Given the description of an element on the screen output the (x, y) to click on. 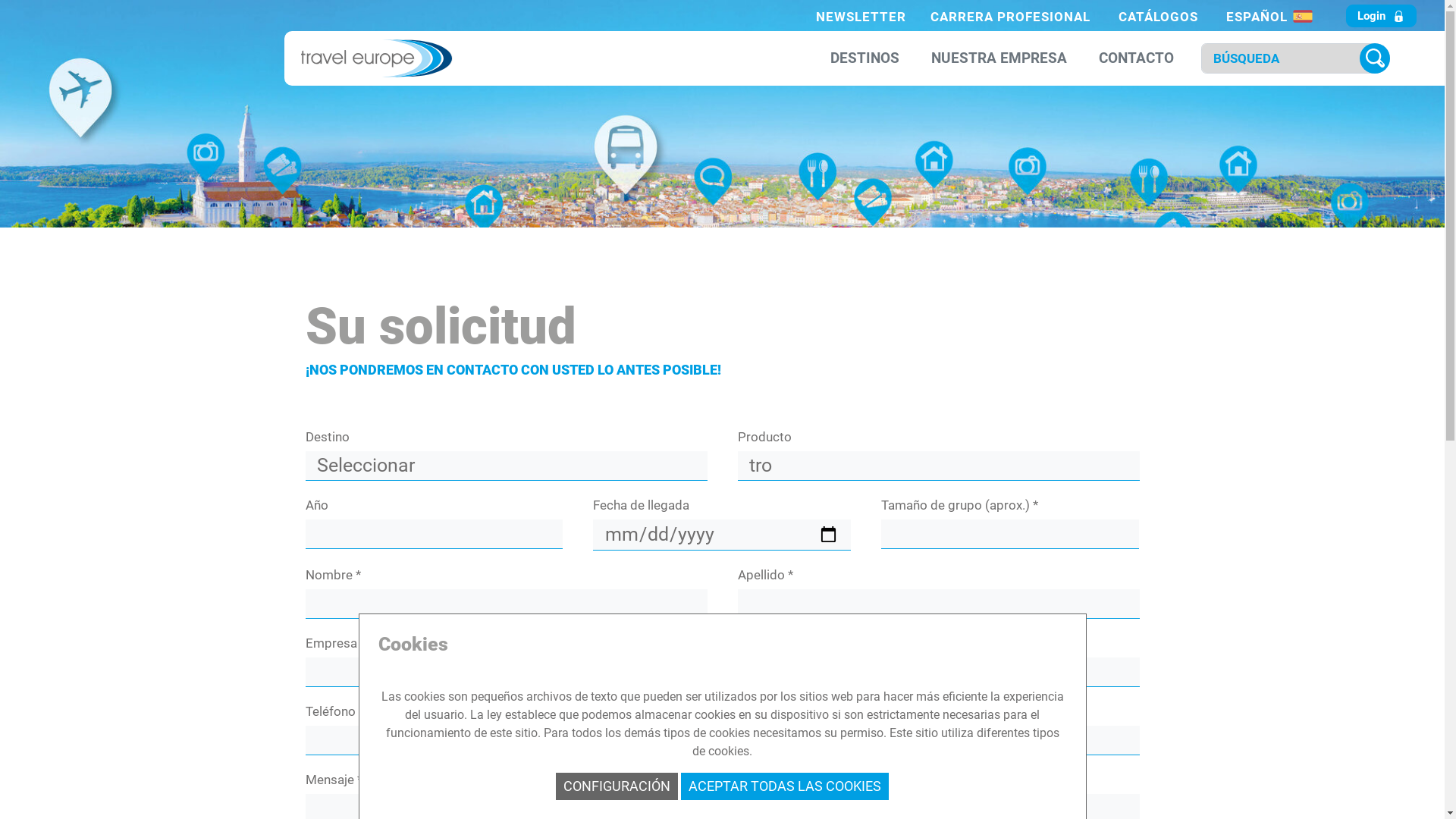
DESTINOS Element type: text (864, 58)
CARRERA PROFESIONAL Element type: text (1010, 17)
NUESTRA EMPRESA Element type: text (998, 58)
CONTACTO Element type: text (1136, 58)
ACEPTAR TODAS LAS COOKIES Element type: text (784, 786)
NEWSLETTER Element type: text (860, 17)
